Given the description of an element on the screen output the (x, y) to click on. 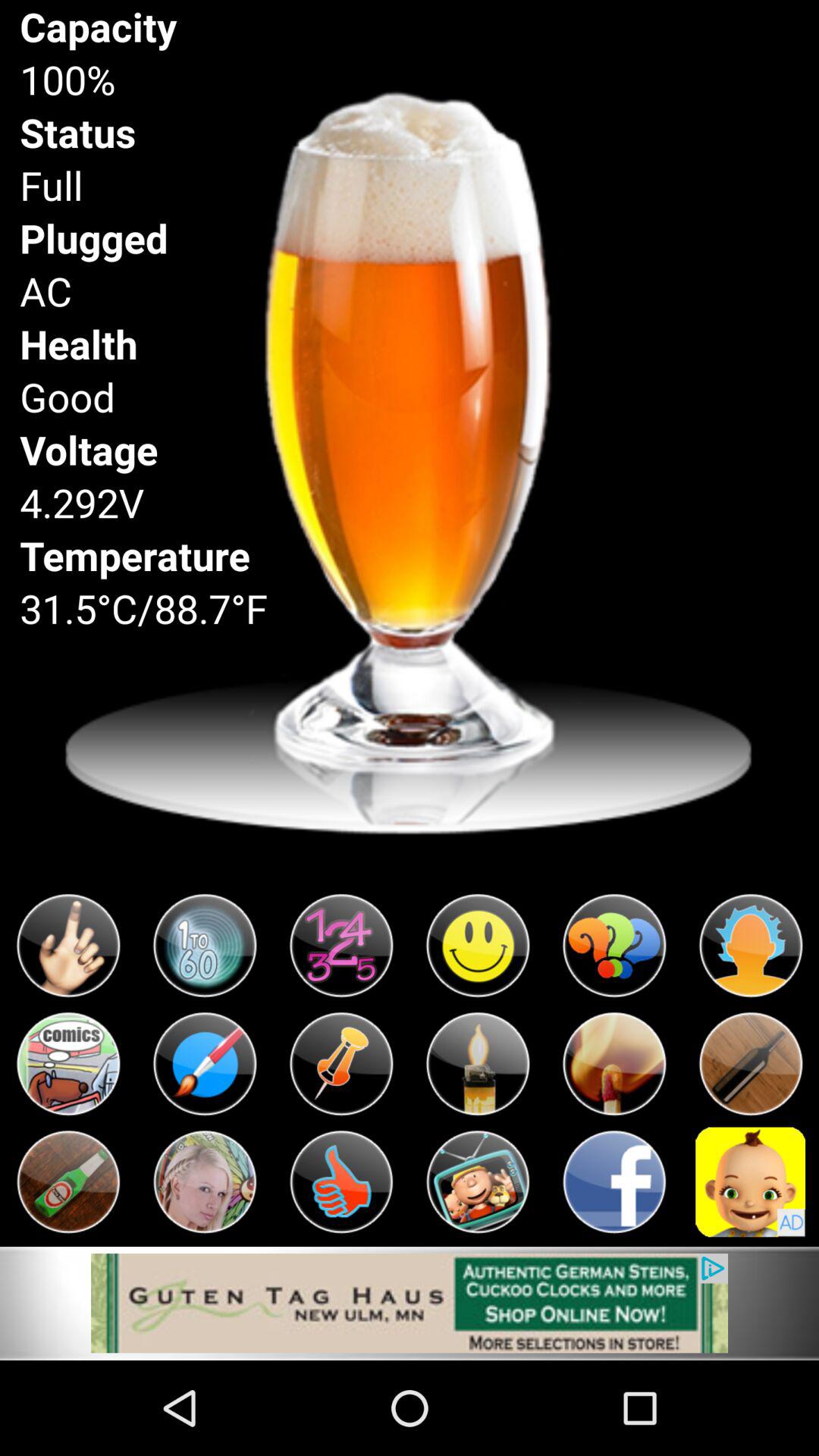
go to like option (341, 1182)
